Given the description of an element on the screen output the (x, y) to click on. 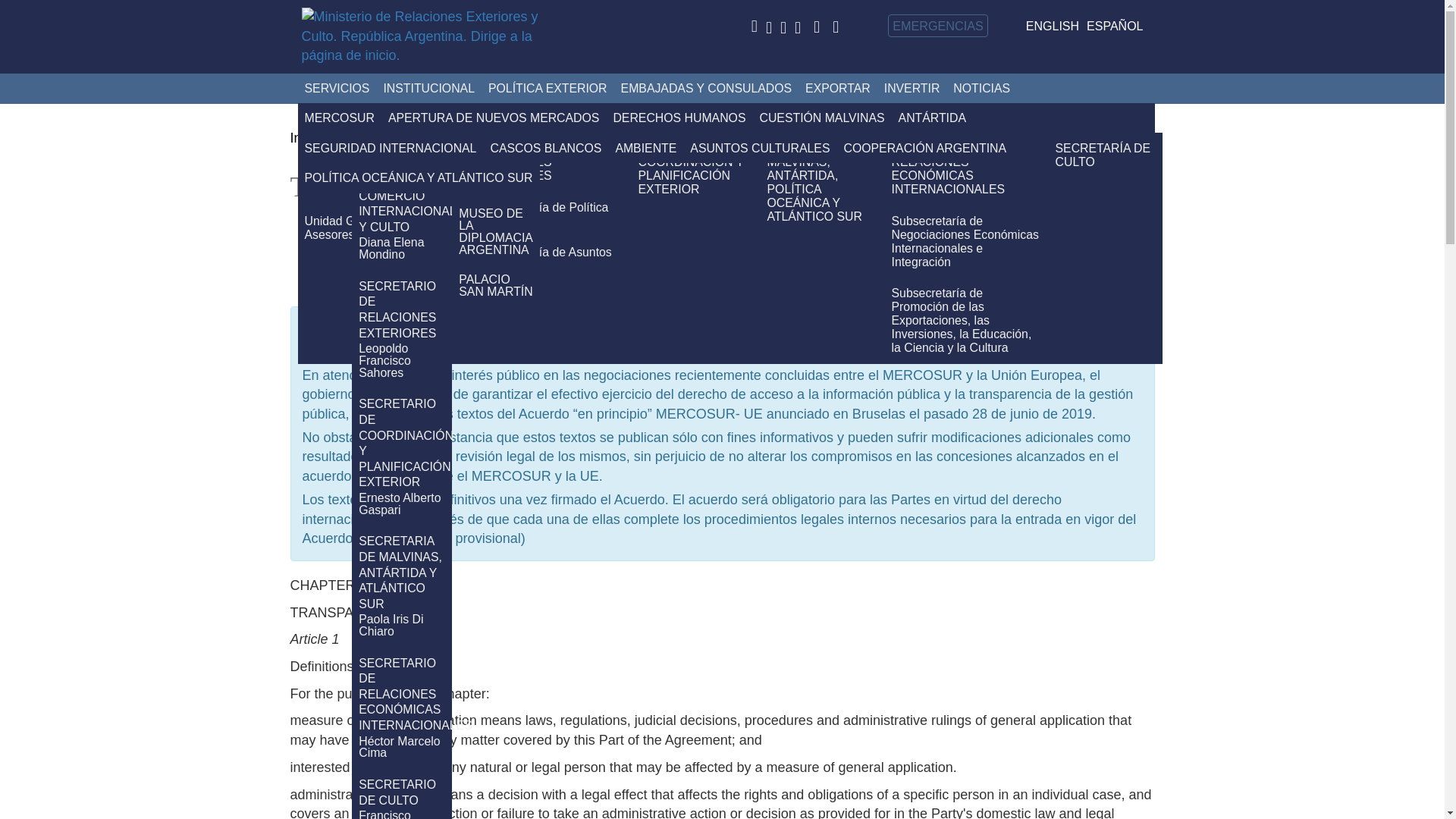
MUSEO DE LA DIPLOMACIA ARGENTINA (495, 231)
Unidad Gabinete de Asesores (382, 227)
ENGLISH (1052, 25)
SERVICIOS (336, 88)
COMPRAS Y CONTRATACIONES (639, 118)
EMERGENCIAS (938, 25)
